Given the description of an element on the screen output the (x, y) to click on. 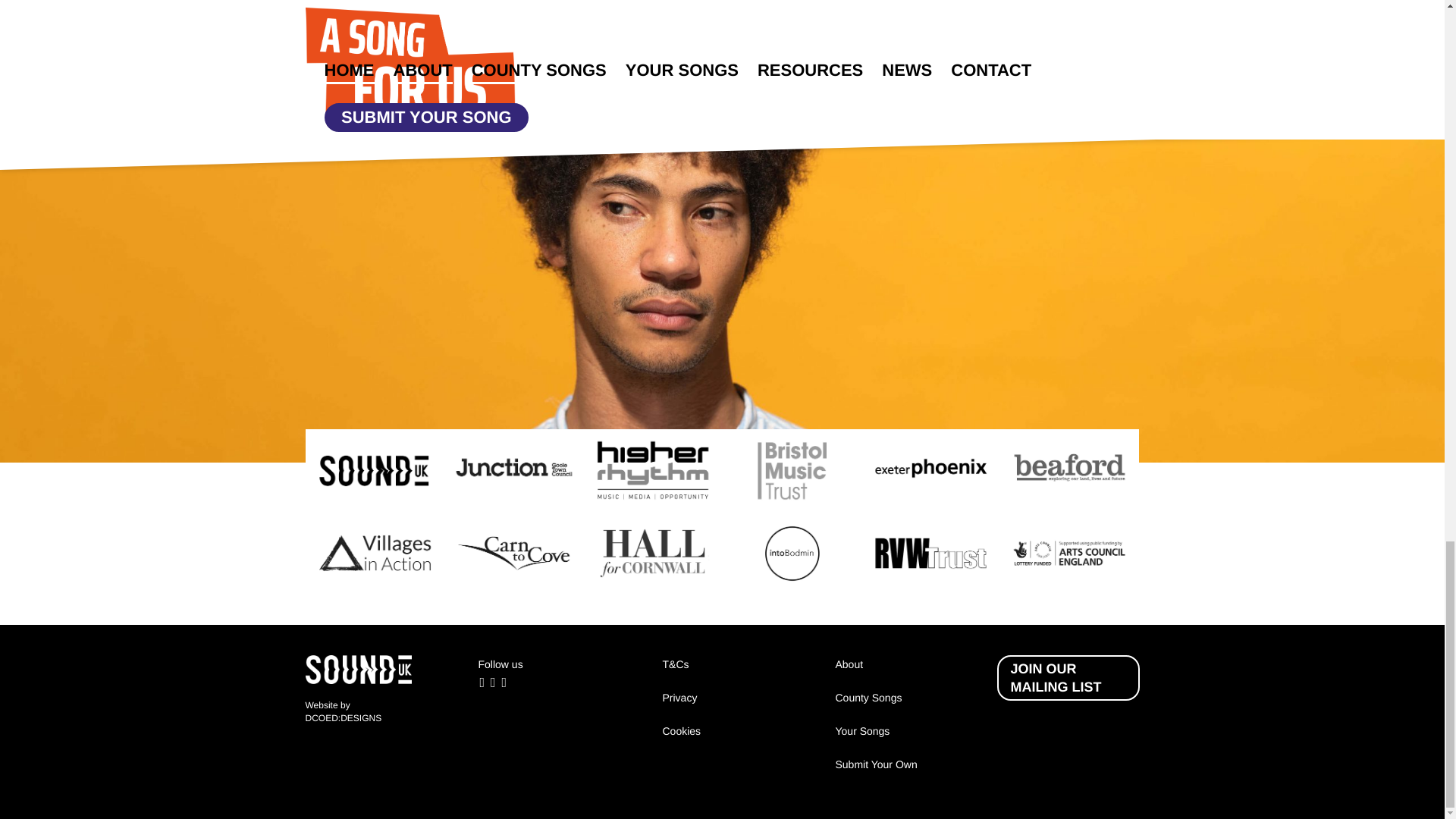
County Songs (868, 697)
Cookies (681, 730)
DCOED:DESIGNS (342, 717)
About (849, 664)
WordPress website design Bristol (342, 717)
Privacy (679, 697)
